Given the description of an element on the screen output the (x, y) to click on. 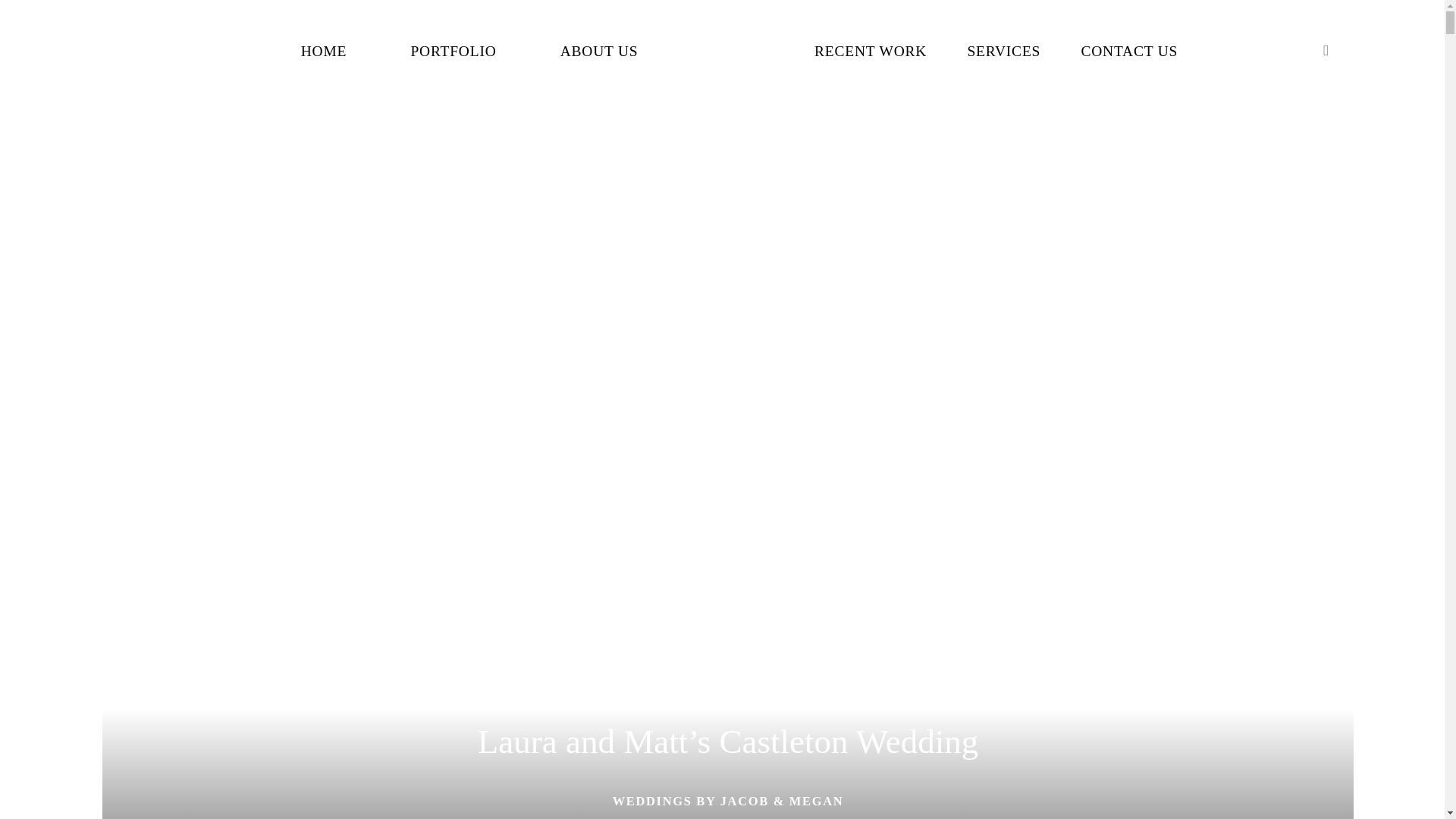
SERVICES (1003, 51)
ABOUT US (599, 51)
PORTFOLIO (453, 51)
CONTACT US (1128, 51)
RECENT WORK (869, 51)
HOME (324, 51)
